Given the description of an element on the screen output the (x, y) to click on. 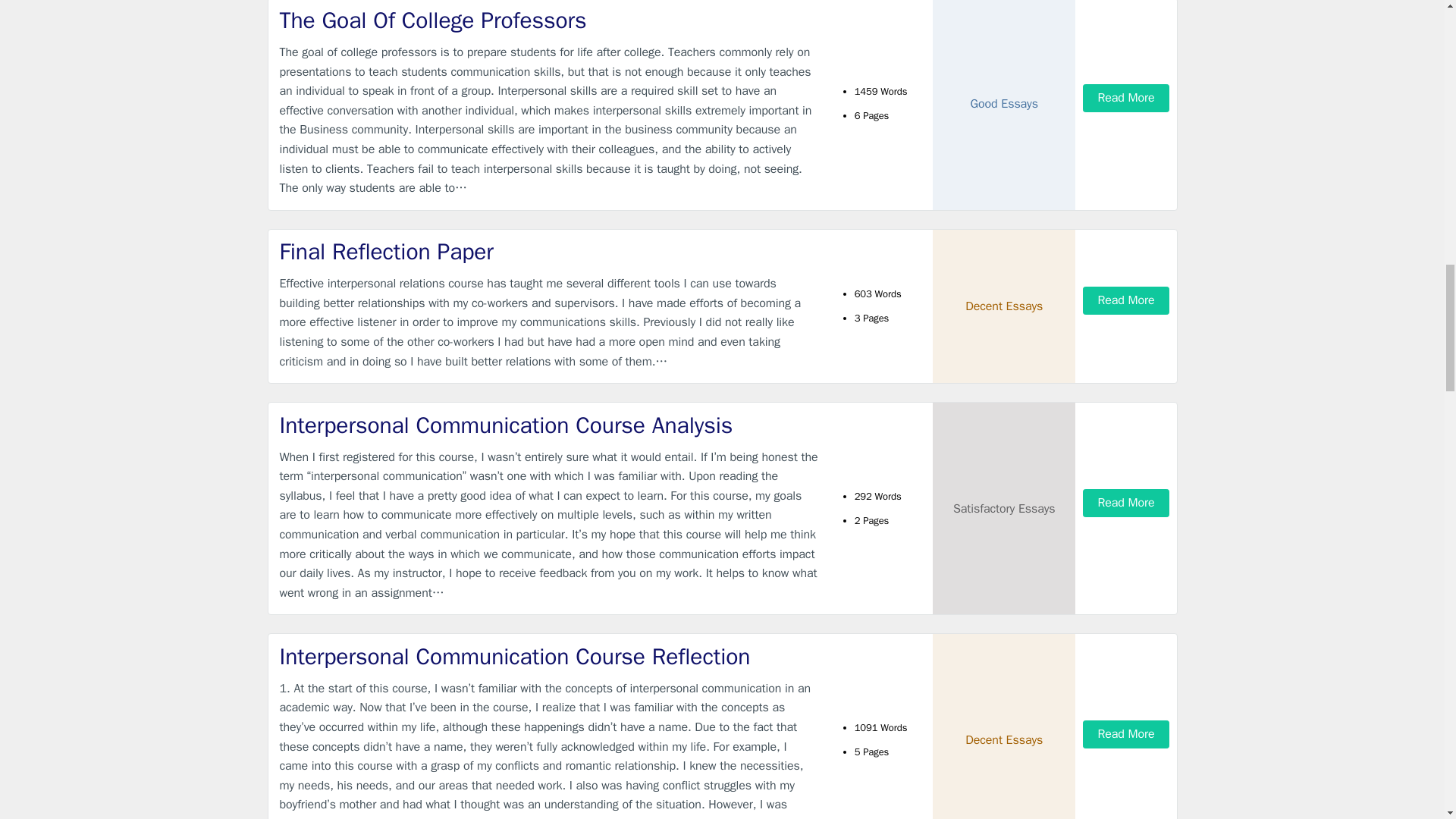
Final Reflection Paper (548, 251)
Interpersonal Communication Course Reflection (548, 656)
Read More (1126, 502)
Interpersonal Communication Course Analysis (548, 425)
The Goal Of College Professors (548, 20)
Read More (1126, 300)
Read More (1126, 98)
Read More (1126, 734)
